Given the description of an element on the screen output the (x, y) to click on. 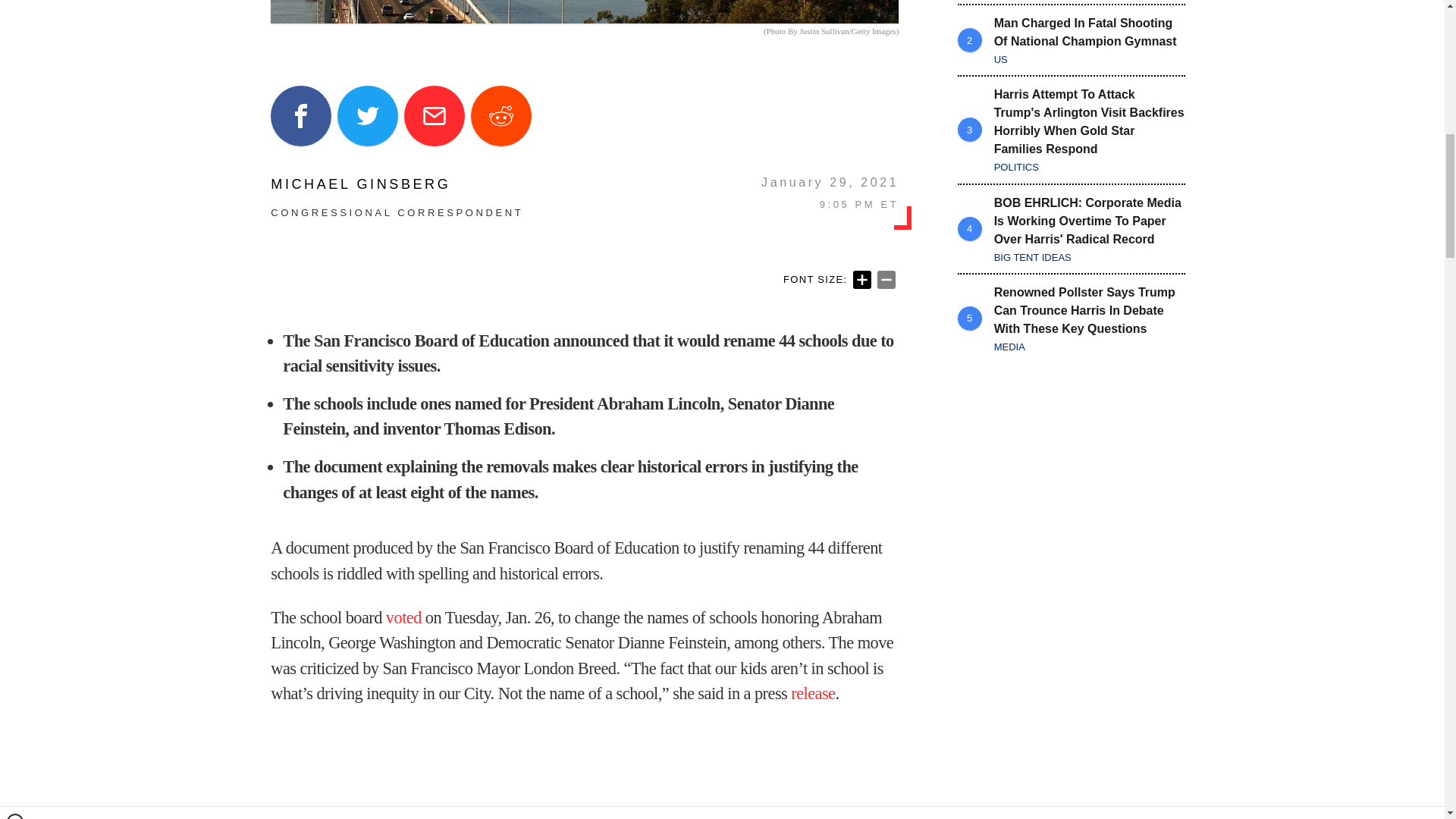
release (812, 692)
Close window (14, 6)
View More Articles By Michael Ginsberg (396, 184)
Golden Gate Bridge Security (584, 11)
voted (403, 617)
MICHAEL GINSBERG (396, 184)
